Given the description of an element on the screen output the (x, y) to click on. 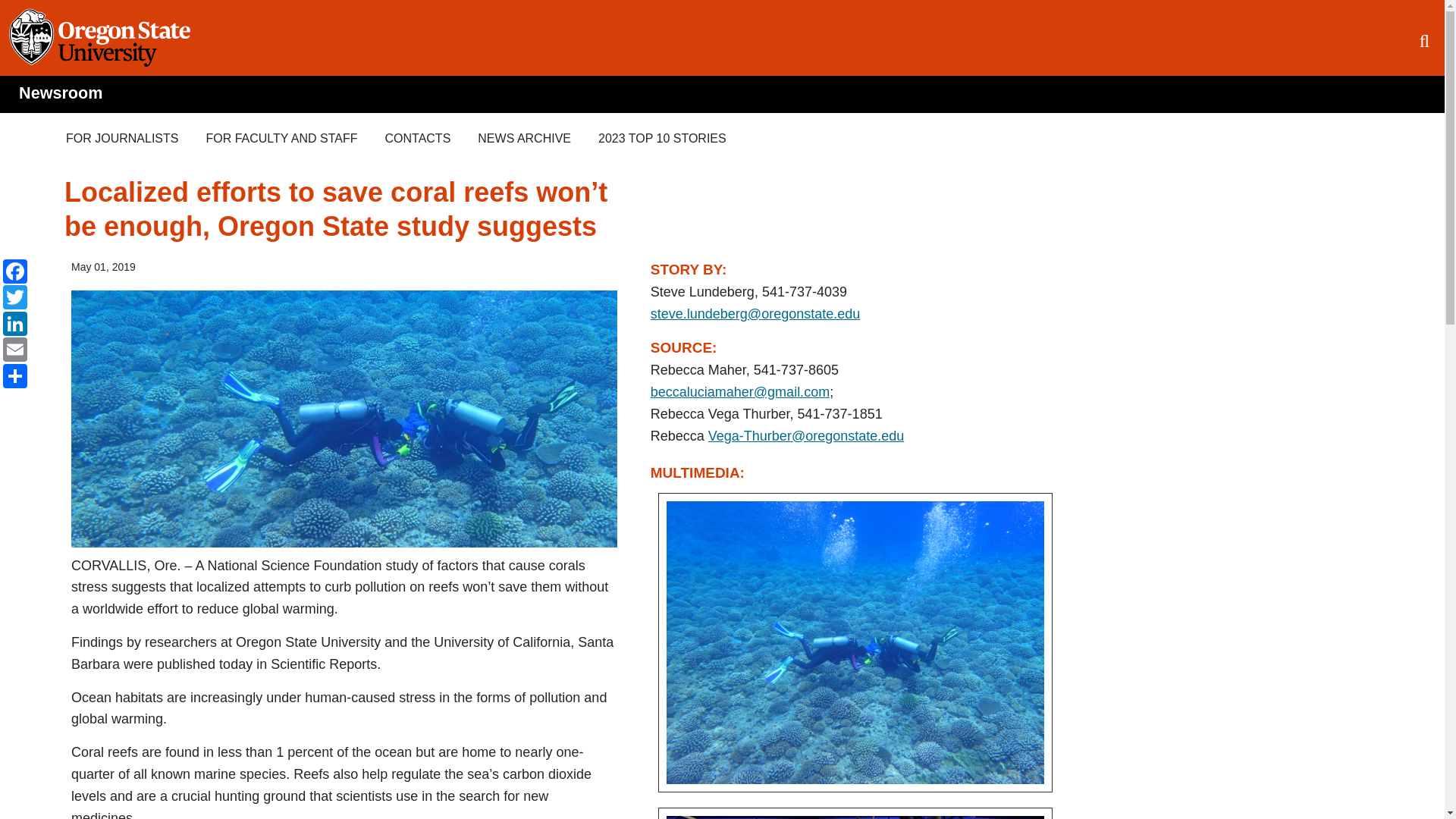
Newsroom (59, 92)
Twitter (15, 296)
LinkedIn (15, 322)
Email (15, 348)
NEWS ARCHIVE (524, 138)
FOR FACULTY AND STAFF (281, 138)
CONTACTS (417, 138)
Cauliflower corals (854, 641)
Cauliflower corals (854, 642)
Facebook (15, 270)
FOR JOURNALISTS (121, 138)
2023 TOP 10 STORIES (662, 138)
